Given the description of an element on the screen output the (x, y) to click on. 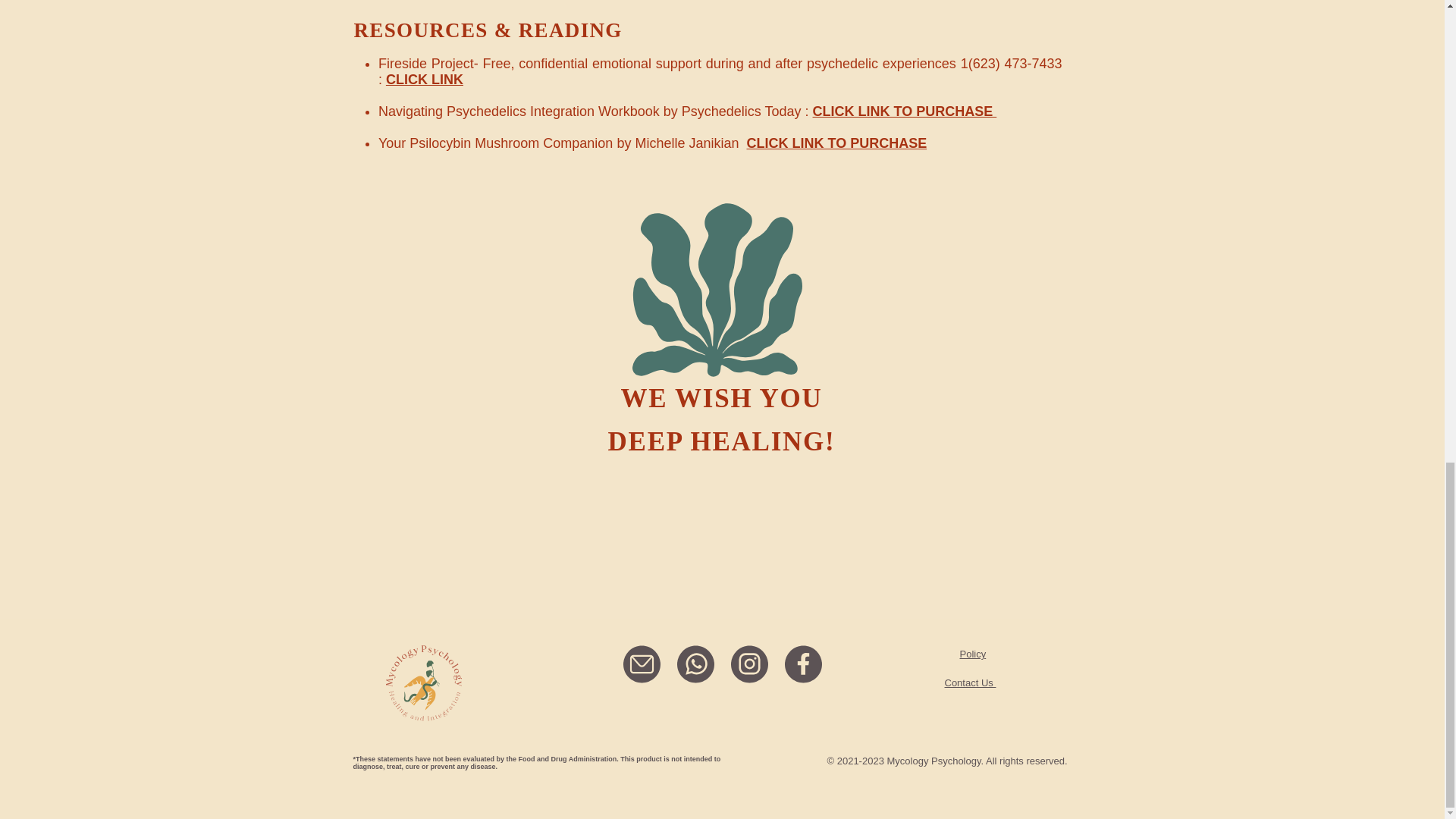
CLICK LINK (424, 79)
Contact Us  (969, 682)
CLICK LINK TO PURCHASE  (904, 111)
Policy (973, 654)
CLICK LINK TO PURCHASE (835, 142)
